Given the description of an element on the screen output the (x, y) to click on. 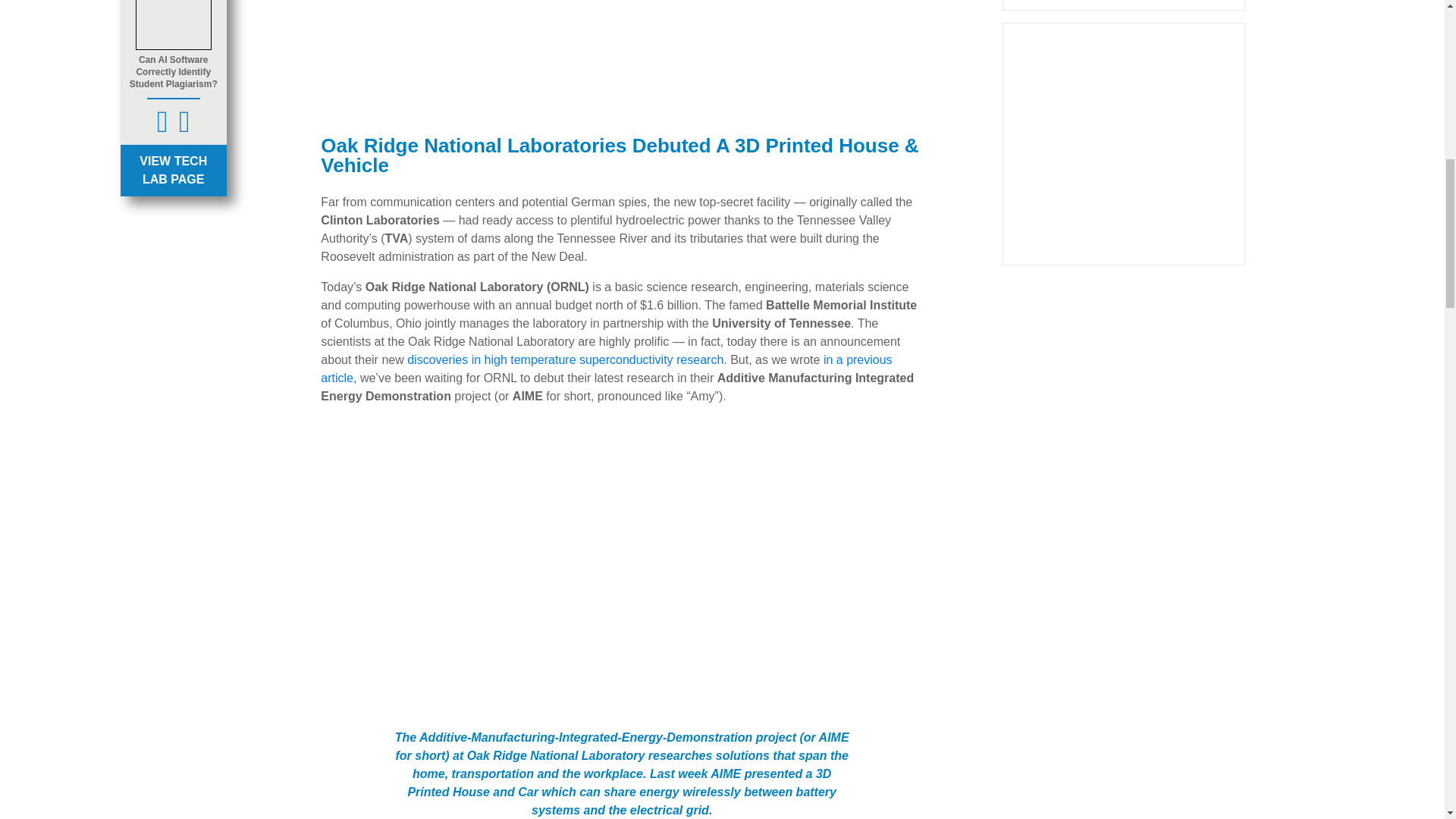
High Temperature Superconductivity (565, 359)
